Given the description of an element on the screen output the (x, y) to click on. 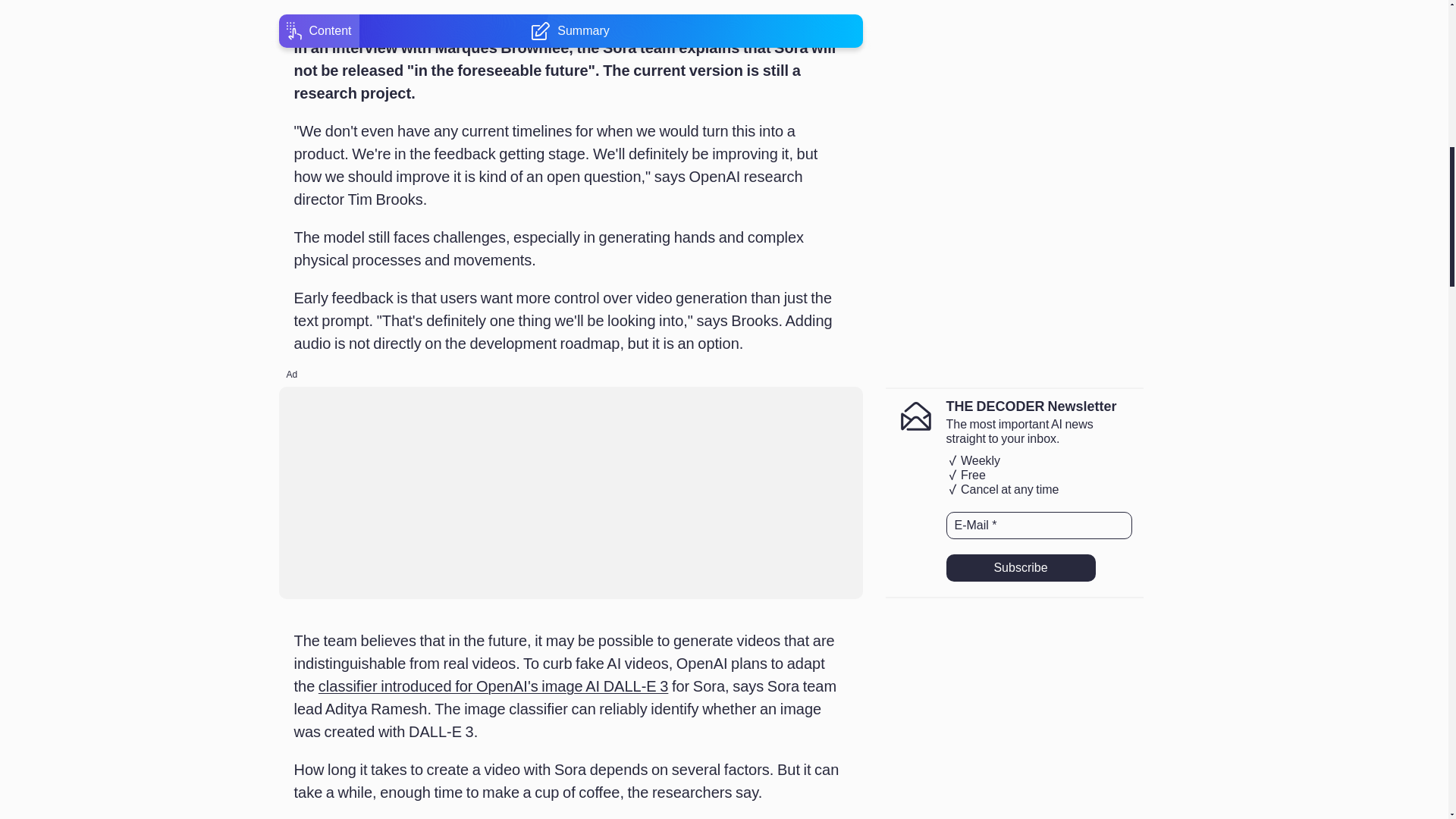
classifier introduced for OpenAI's image AI DALL-E 3 (493, 686)
E-Mail (1039, 524)
Subscribe (1021, 567)
Subscribe (1021, 567)
Summary (569, 2)
